Given the description of an element on the screen output the (x, y) to click on. 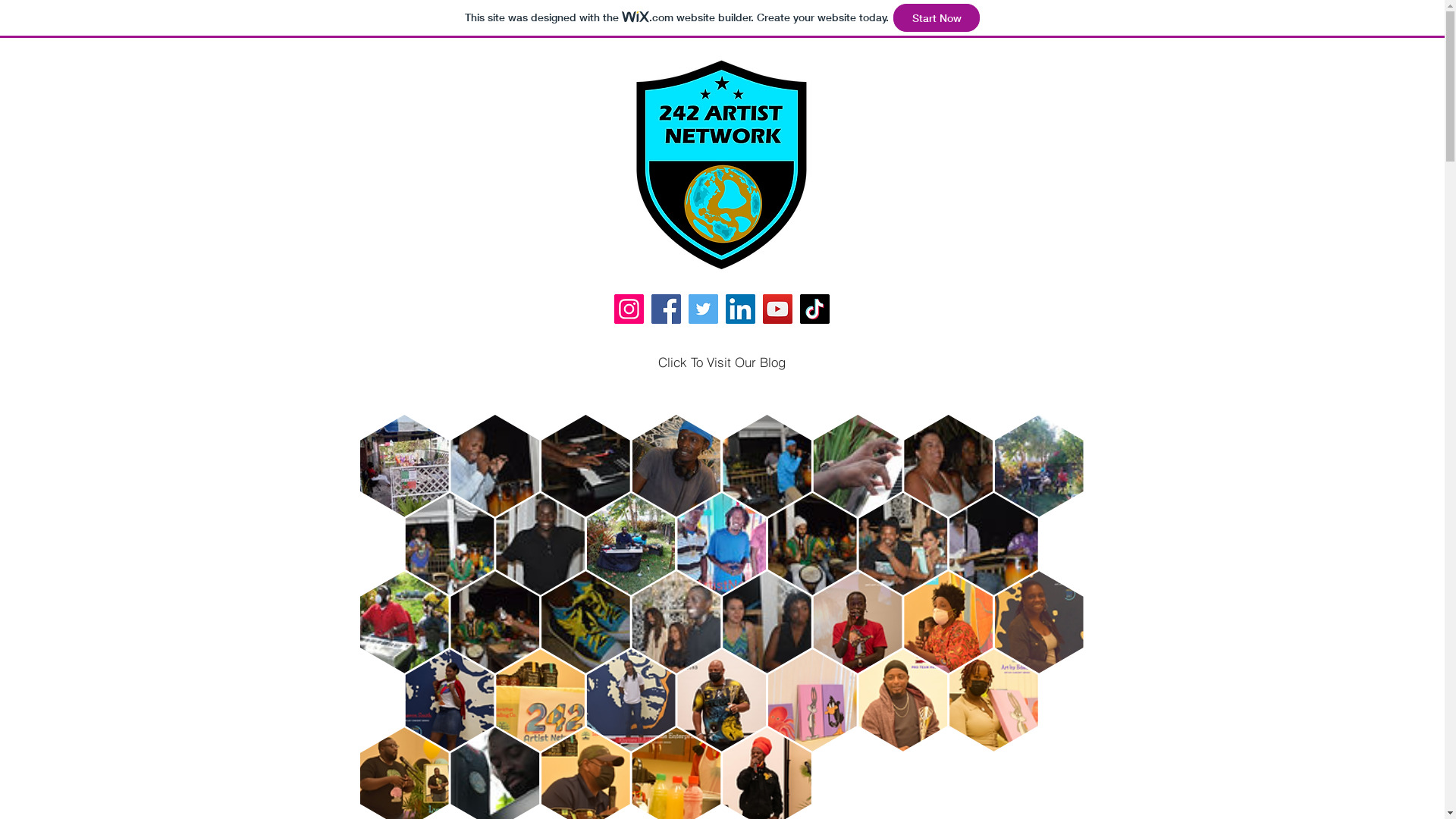
Click To Visit Our Blog Element type: text (722, 361)
